Given the description of an element on the screen output the (x, y) to click on. 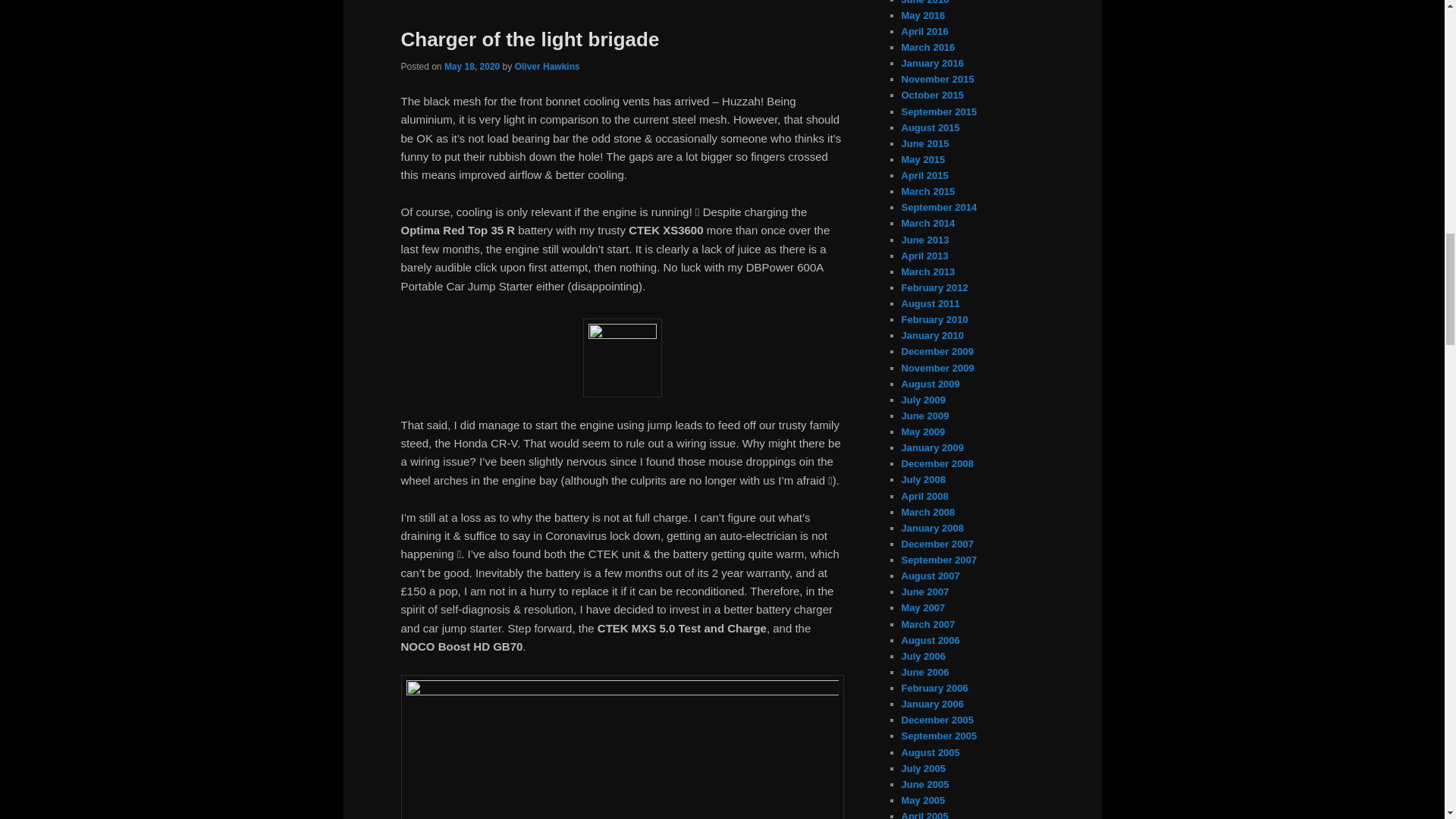
May 18, 2020 (471, 66)
Oliver Hawkins (547, 66)
Charger of the light brigade (529, 38)
